Given the description of an element on the screen output the (x, y) to click on. 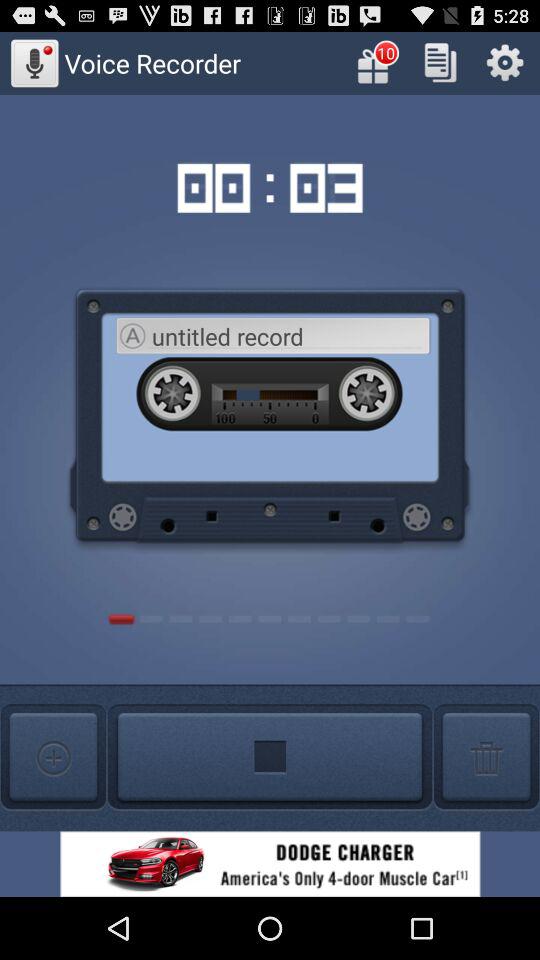
delete button (486, 757)
